Given the description of an element on the screen output the (x, y) to click on. 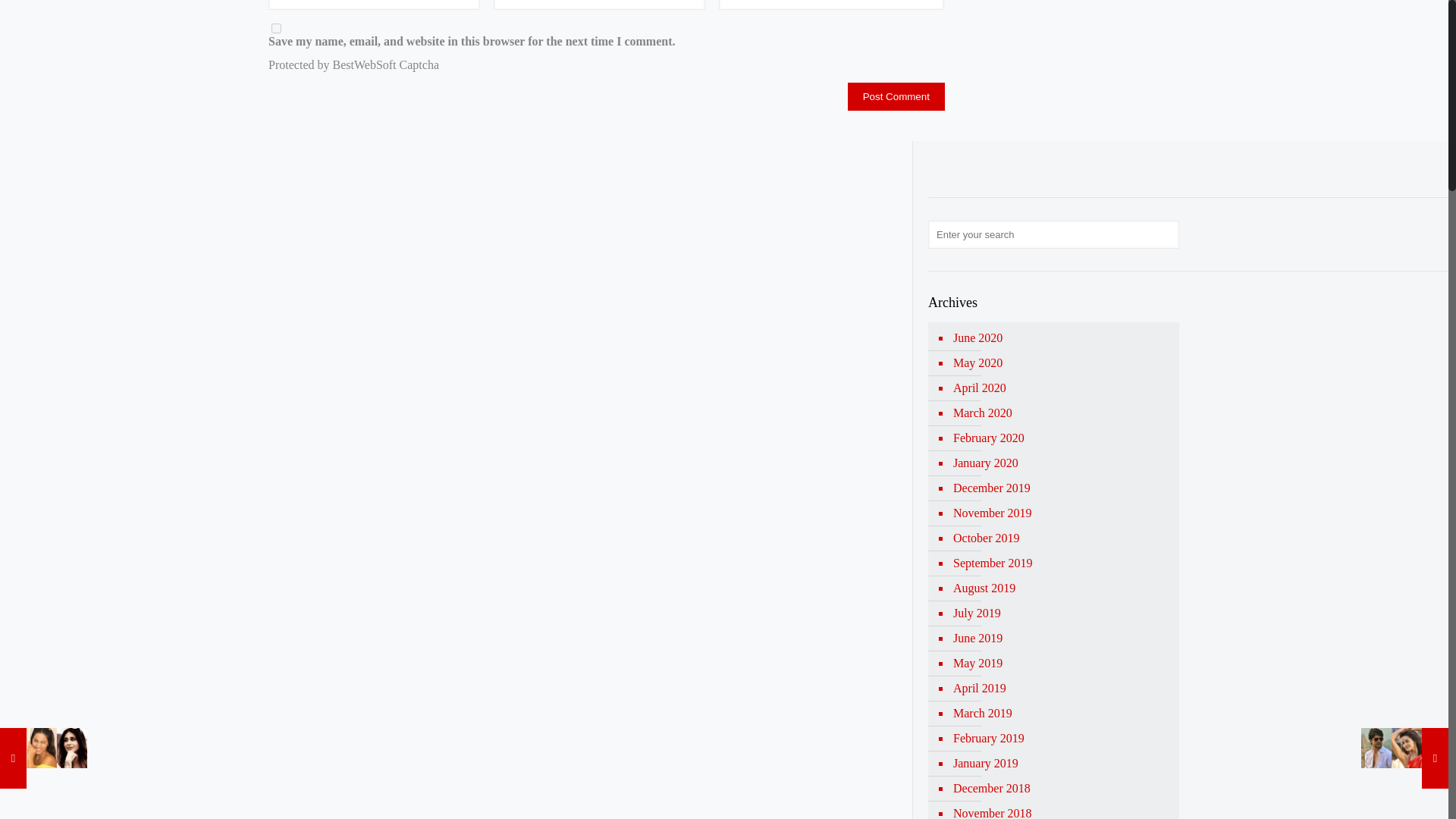
Post Comment (895, 96)
